Given the description of an element on the screen output the (x, y) to click on. 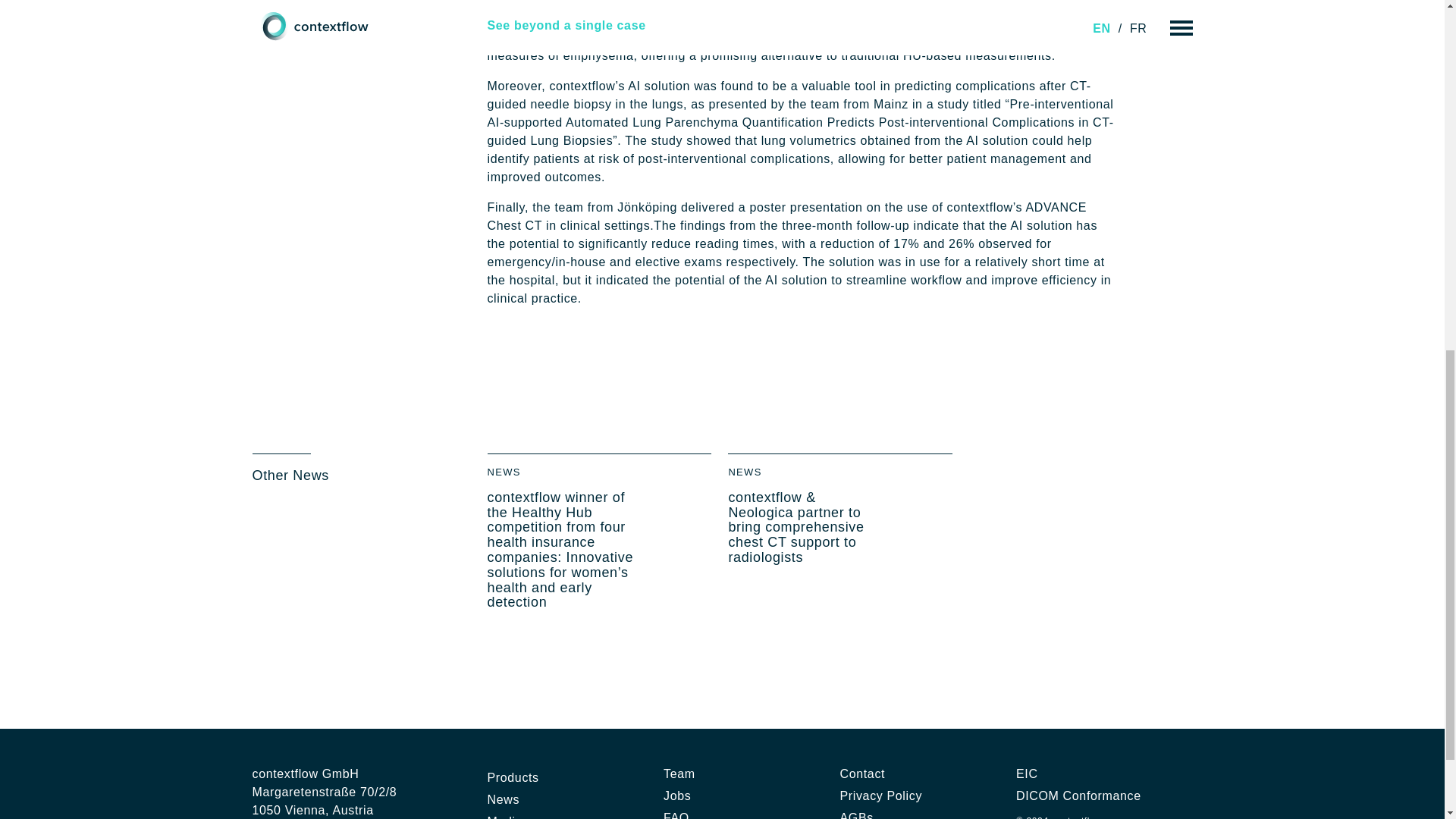
Team (679, 773)
Products (512, 777)
Privacy Policy (881, 795)
Contact (862, 773)
News (502, 799)
Jobs (676, 795)
